Given the description of an element on the screen output the (x, y) to click on. 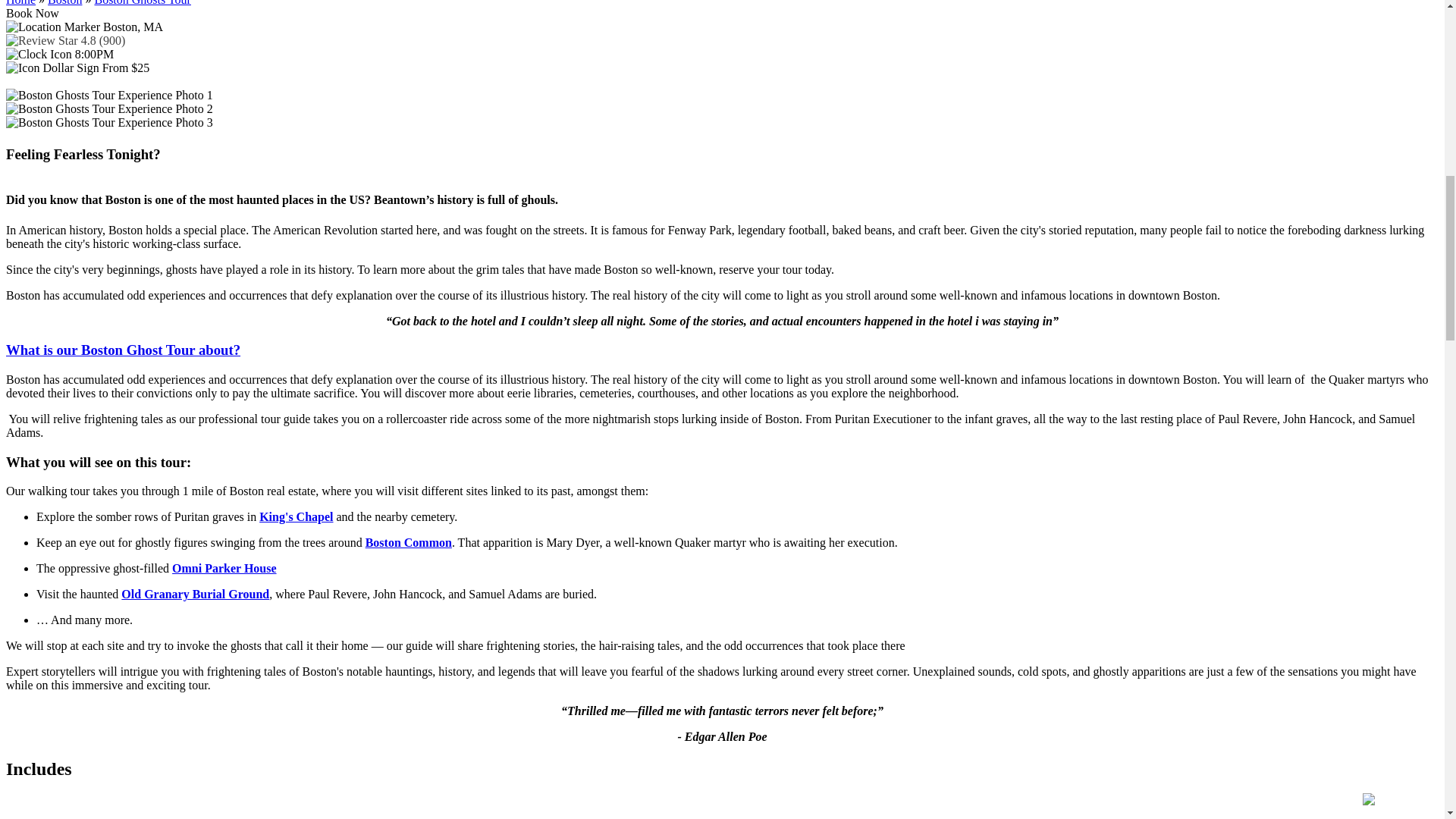
Boston Ghosts Tour (142, 2)
Omni Parker House (223, 567)
King's Chapel (296, 516)
Old Granary Burial Ground (194, 594)
Book Now (32, 12)
Boston Common (408, 542)
What is our Boston Ghost Tour about? (122, 349)
Boston (64, 2)
Home (19, 2)
